Given the description of an element on the screen output the (x, y) to click on. 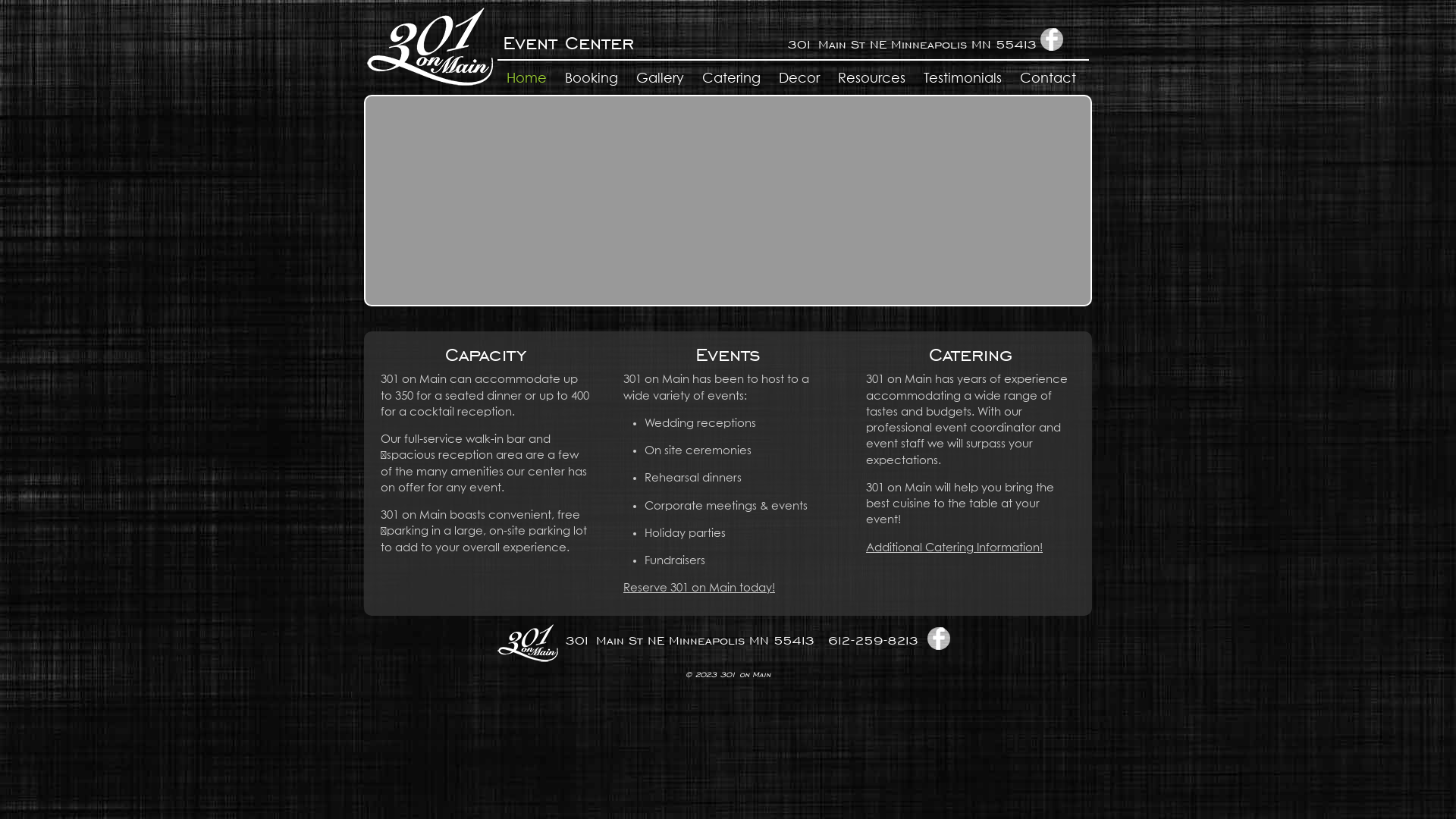
Home Element type: text (526, 78)
Resources Element type: text (871, 78)
Reserve 301 on Main today! Element type: text (699, 587)
Booking Element type: text (591, 78)
Gallery Element type: text (660, 78)
Additional Catering Information! Element type: text (954, 547)
Testimonials Element type: text (962, 78)
Catering Element type: text (731, 78)
Contact Element type: text (1047, 78)
Decor Element type: text (798, 78)
